Given the description of an element on the screen output the (x, y) to click on. 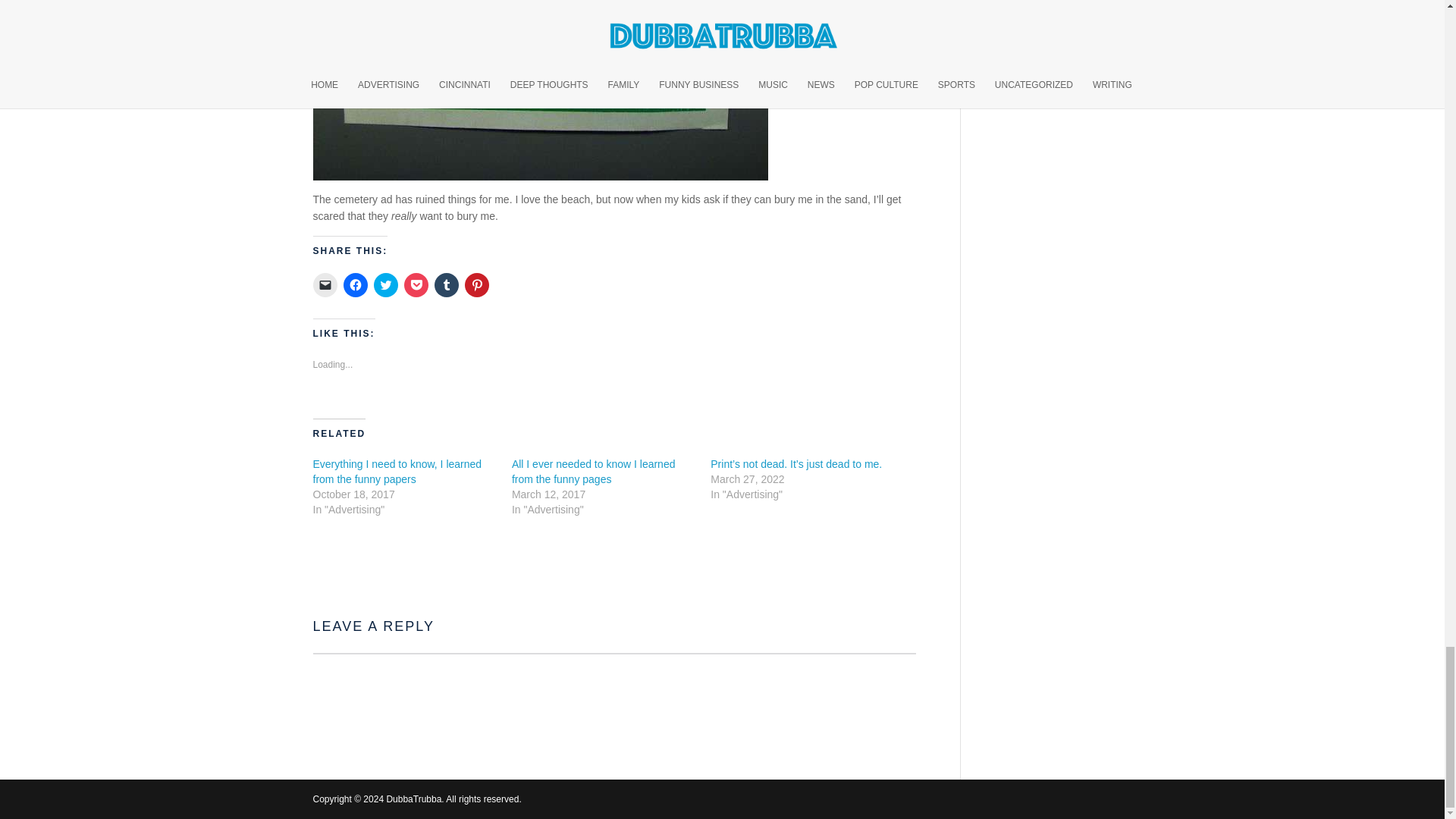
All I ever needed to know I learned from the funny pages (593, 471)
Click to share on Pocket (415, 284)
Everything I need to know, I learned from the funny papers (397, 471)
Click to share on Pinterest (475, 284)
Click to share on Facebook (354, 284)
Click to share on Tumblr (445, 284)
Click to share on Twitter (384, 284)
Click to email a link to a friend (324, 284)
Everything I need to know, I learned from the funny papers (397, 471)
All I ever needed to know I learned from the funny pages (593, 471)
